Given the description of an element on the screen output the (x, y) to click on. 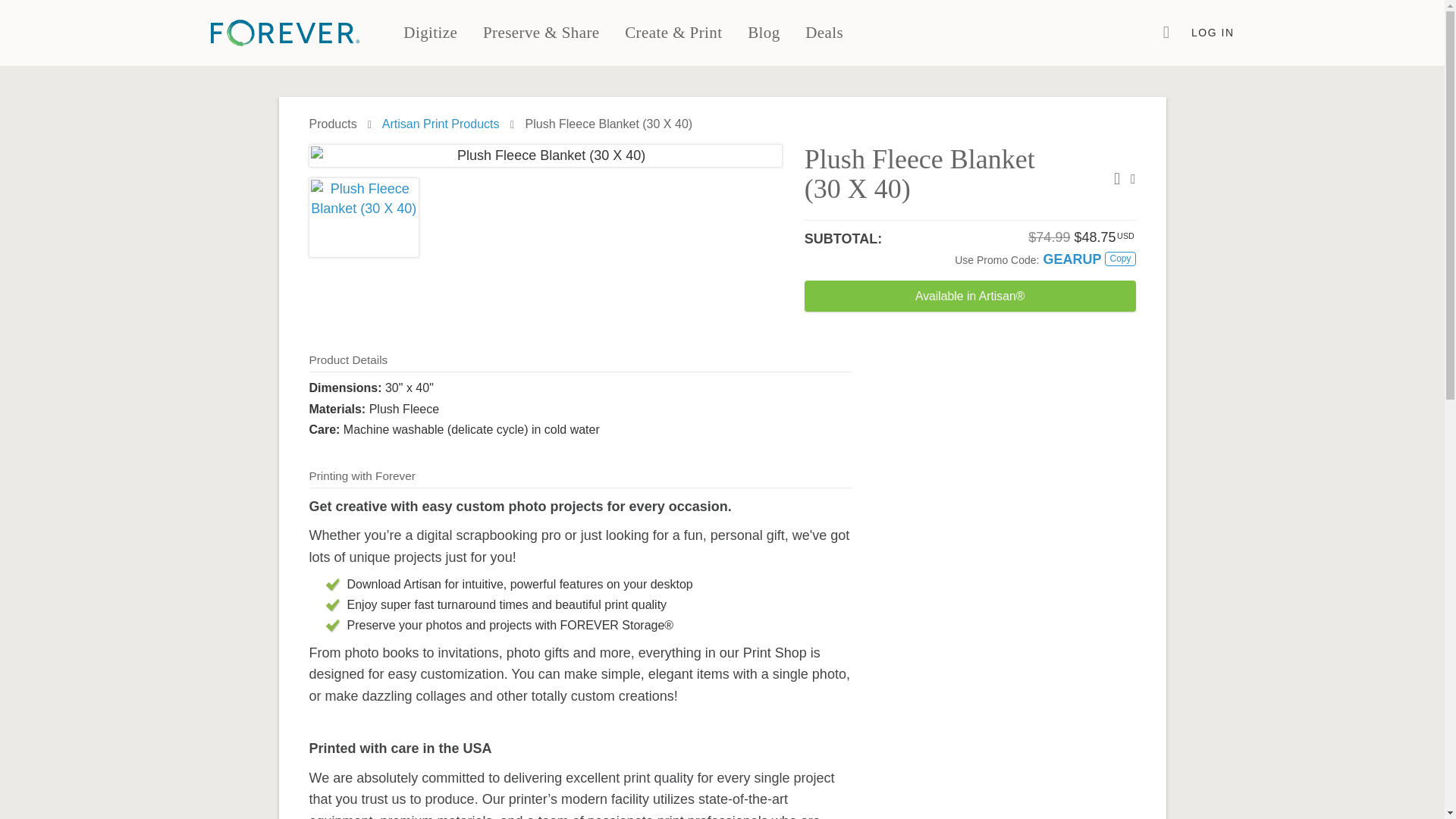
LOG IN (1212, 32)
Blog (763, 33)
View Print Products and Pricing (440, 123)
Deals (824, 33)
Digitize (430, 33)
